Given the description of an element on the screen output the (x, y) to click on. 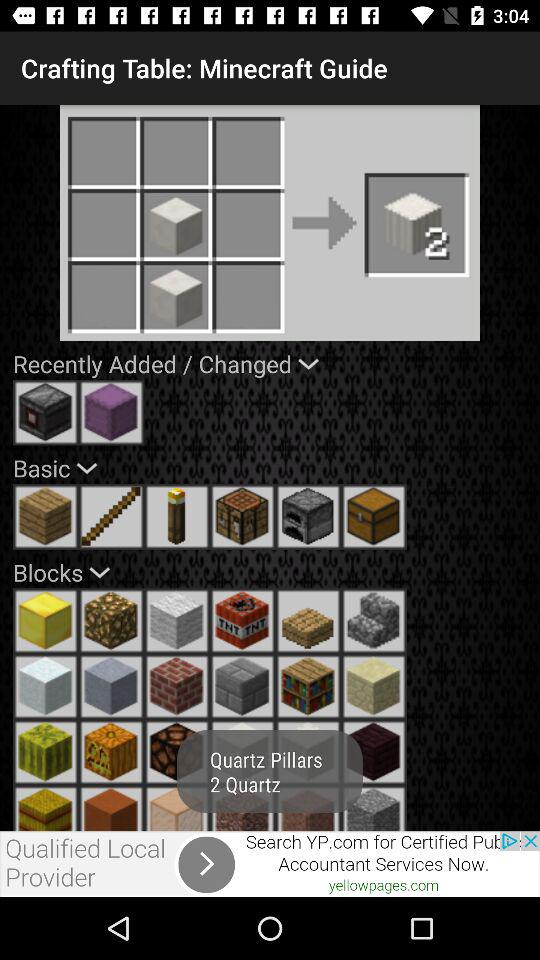
select quartz pillars (308, 808)
